Given the description of an element on the screen output the (x, y) to click on. 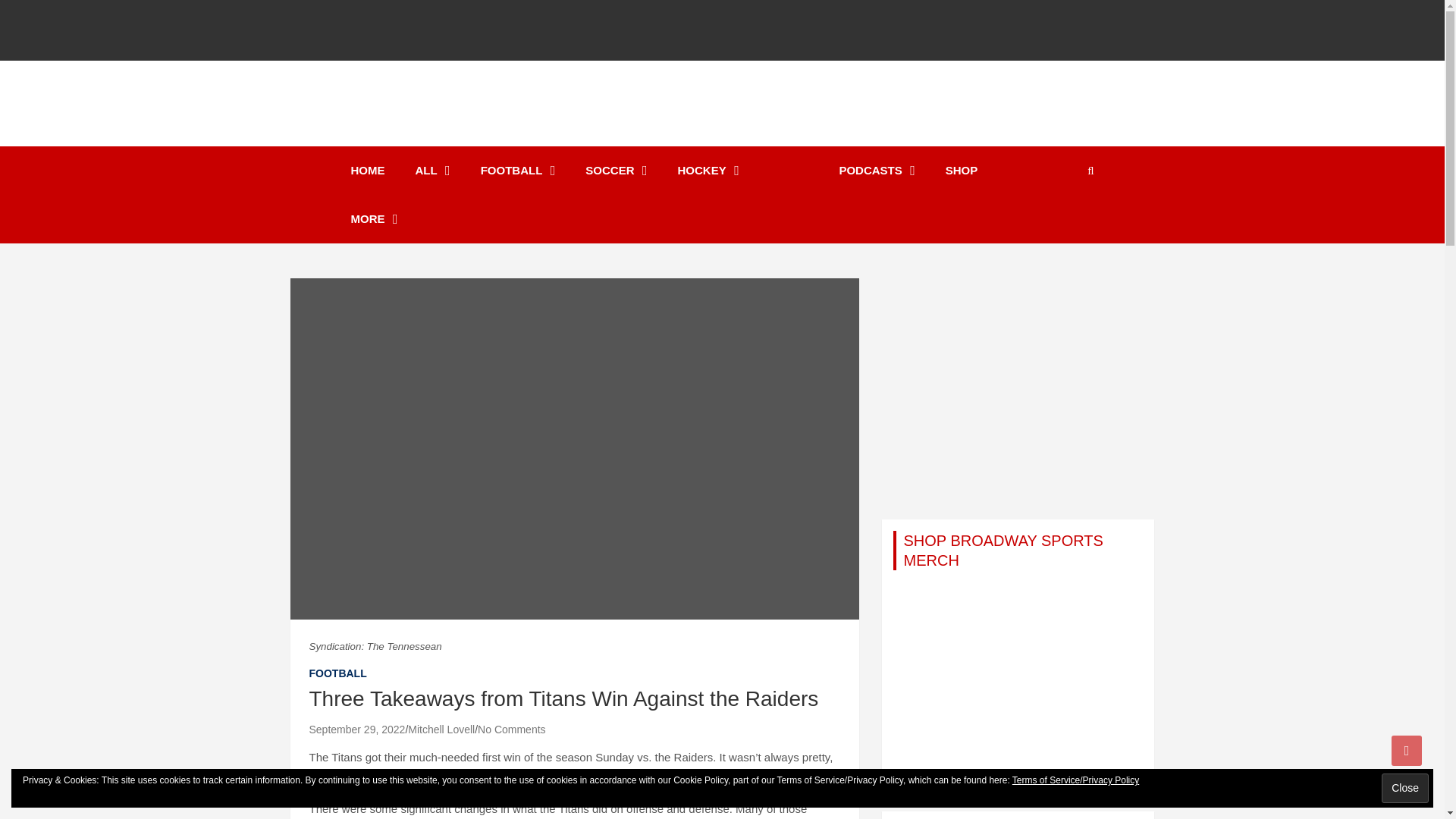
Go to Top (1406, 750)
Three Takeaways from Titans Win Against the Raiders (357, 729)
HOME (366, 170)
Close (1404, 788)
FOOTBALL (517, 170)
ALL (432, 170)
